Given the description of an element on the screen output the (x, y) to click on. 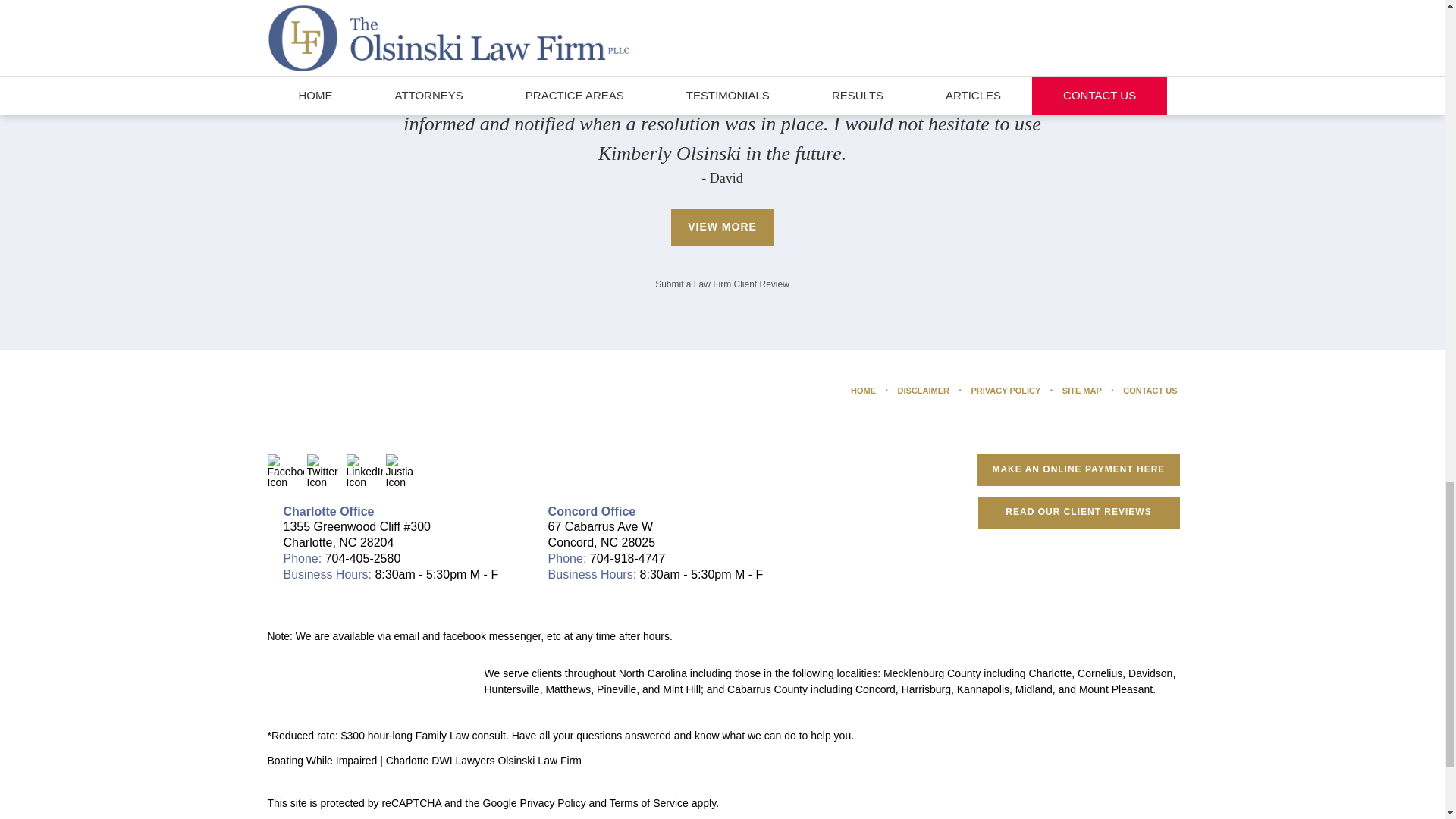
Justia (403, 472)
LinkedIn (363, 472)
Twitter (323, 472)
Facebook (284, 472)
